Given the description of an element on the screen output the (x, y) to click on. 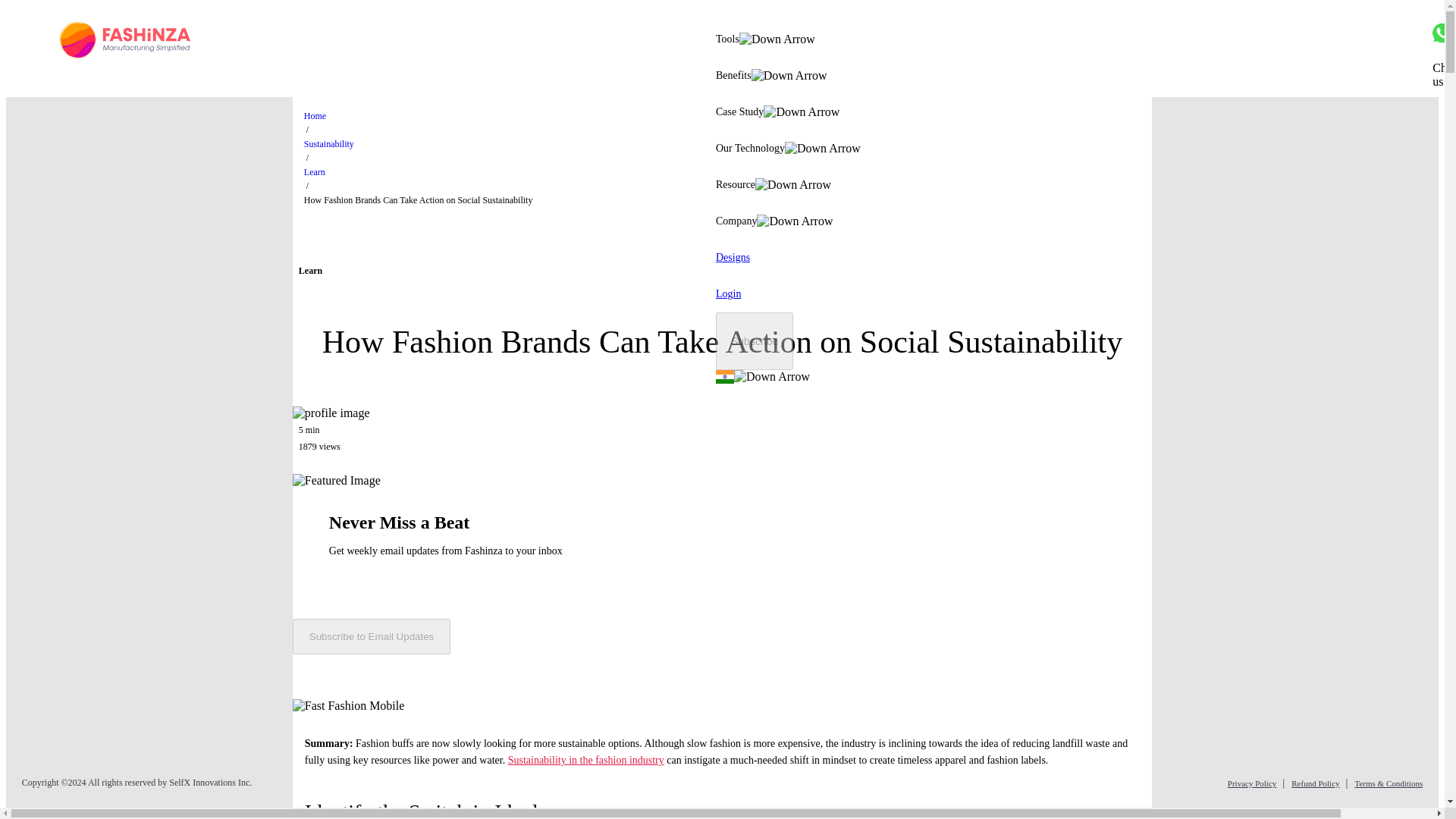
Learn (314, 172)
Subscribe (754, 341)
Sustainability (328, 143)
Designs (732, 257)
Subscribe to Email Updates (370, 636)
Sustainability in the fashion industry (585, 759)
Home (315, 115)
